Given the description of an element on the screen output the (x, y) to click on. 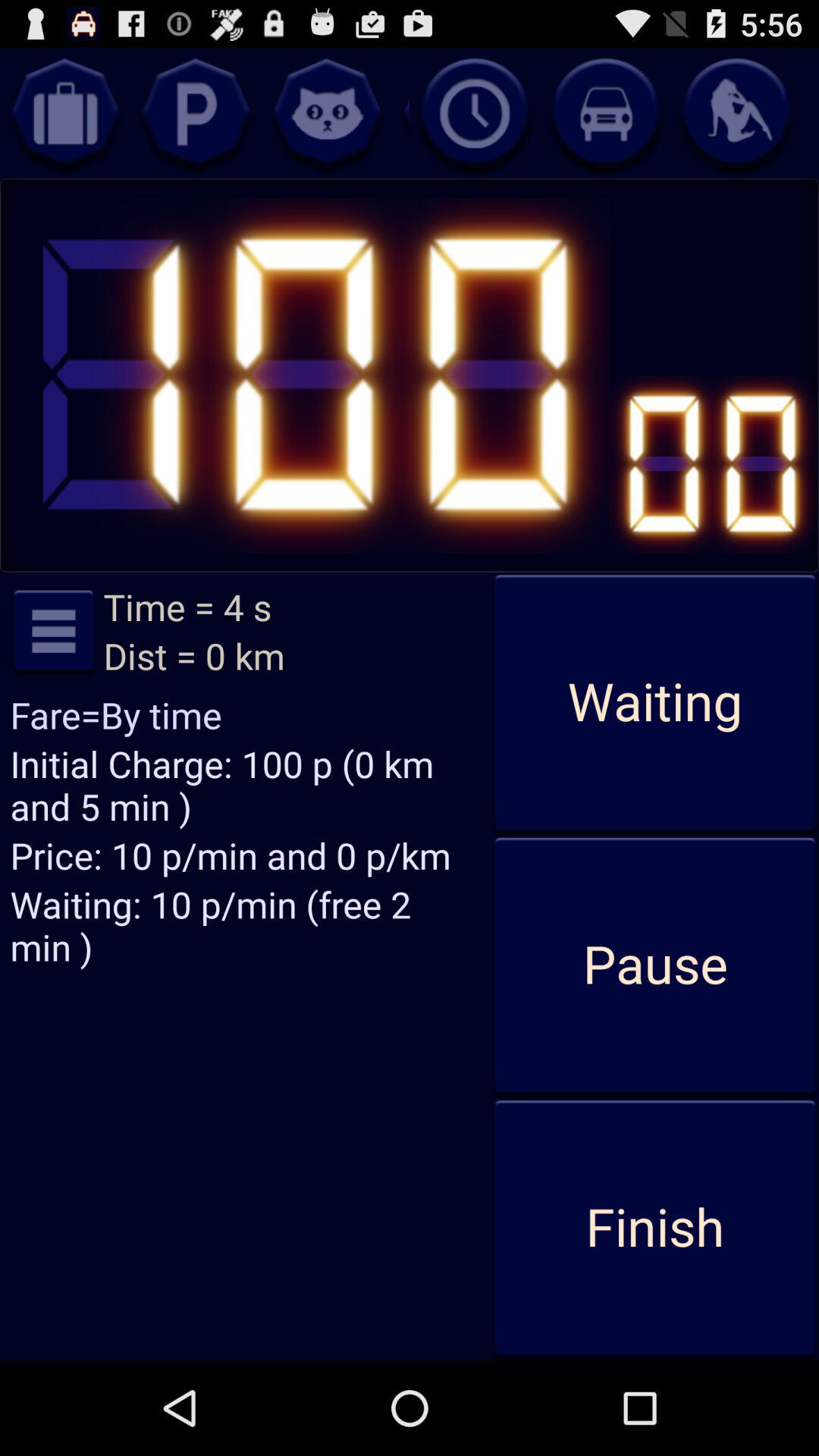
rider has pet (326, 112)
